Given the description of an element on the screen output the (x, y) to click on. 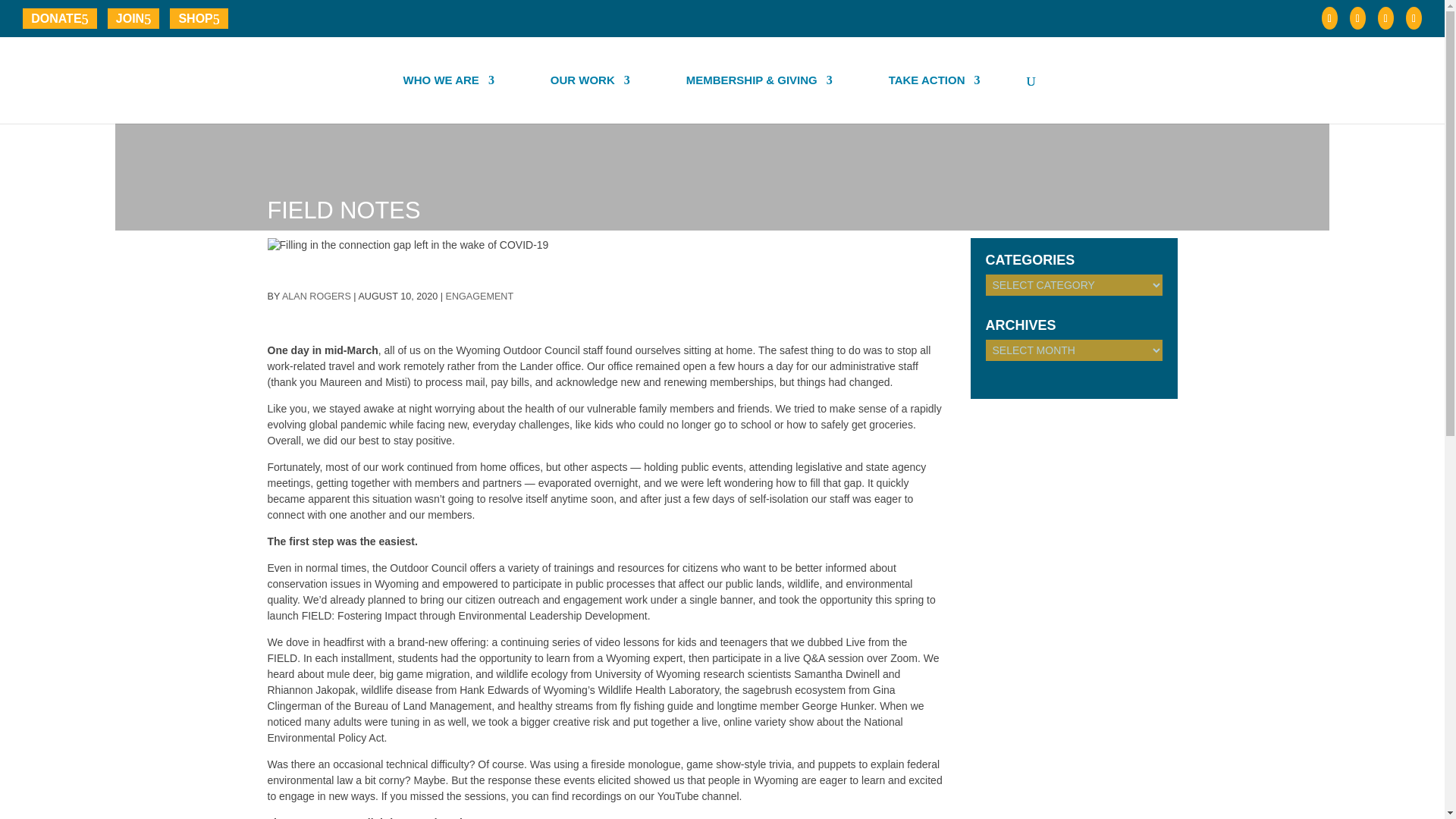
WHO WE ARE (449, 99)
Posts by Alan Rogers (316, 296)
ENGAGEMENT (479, 296)
OUR WORK (590, 99)
DONATE (60, 17)
SHOP (199, 17)
TAKE ACTION (933, 99)
ALAN ROGERS (316, 296)
JOIN (133, 17)
